Given the description of an element on the screen output the (x, y) to click on. 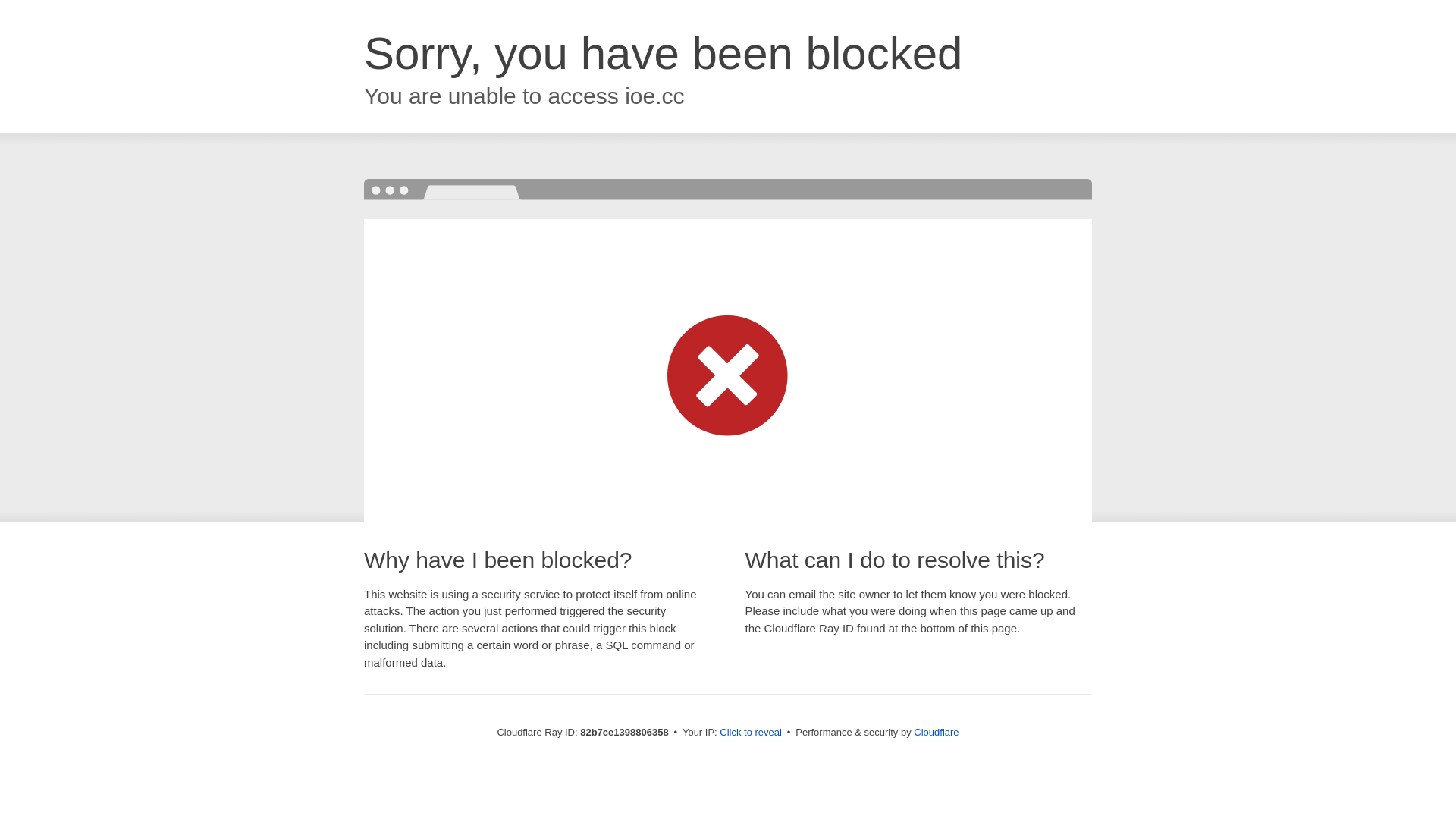
Click to reveal Element type: text (750, 732)
Cloudflare Element type: text (935, 731)
